Given the description of an element on the screen output the (x, y) to click on. 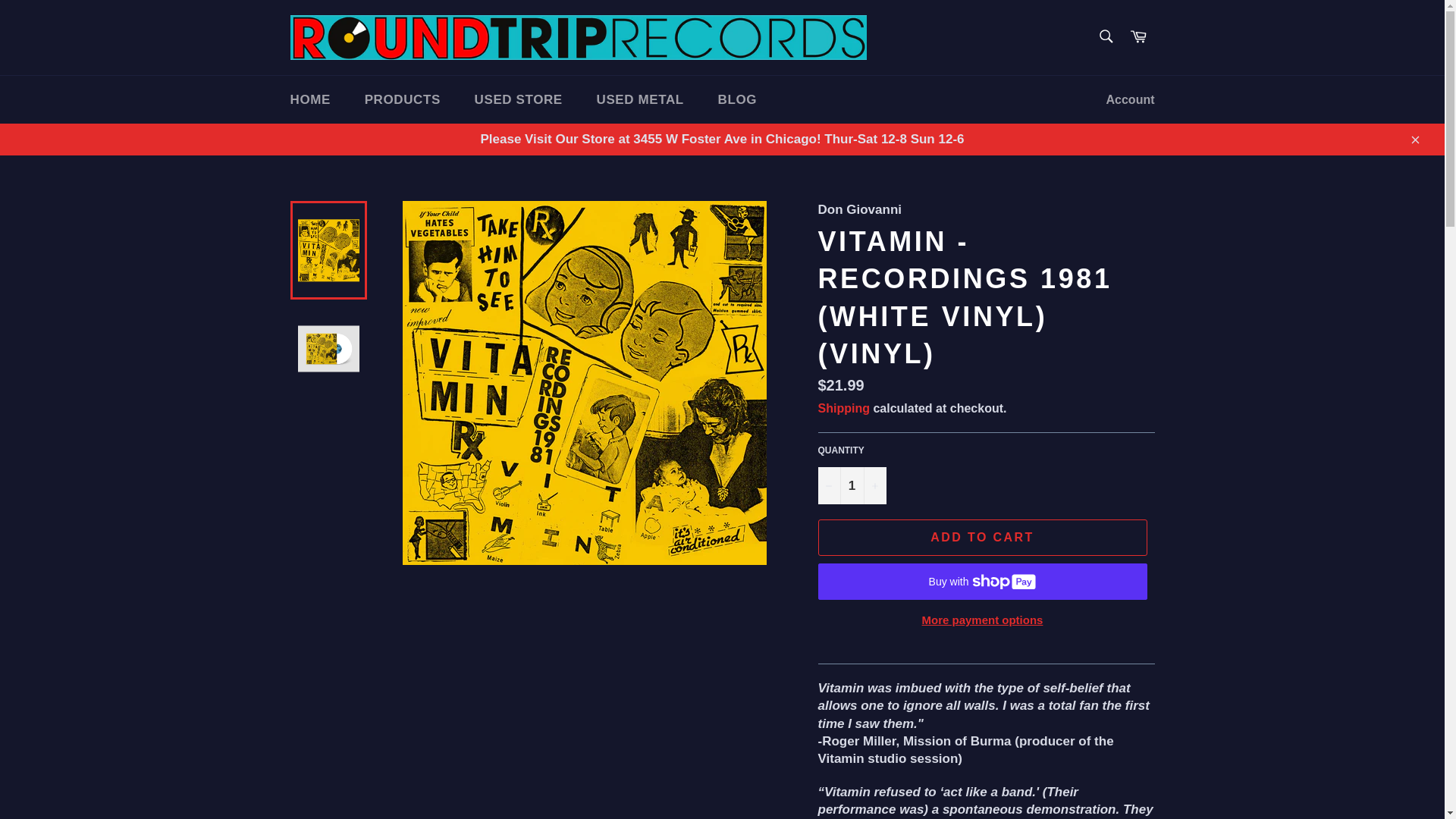
Account (1129, 99)
Shipping (842, 408)
Search (1104, 36)
ADD TO CART (981, 537)
More payment options (981, 620)
PRODUCTS (402, 99)
USED STORE (519, 99)
1 (850, 485)
USED METAL (639, 99)
HOME (310, 99)
Close (1414, 138)
BLOG (738, 99)
Cart (1138, 37)
